Given the description of an element on the screen output the (x, y) to click on. 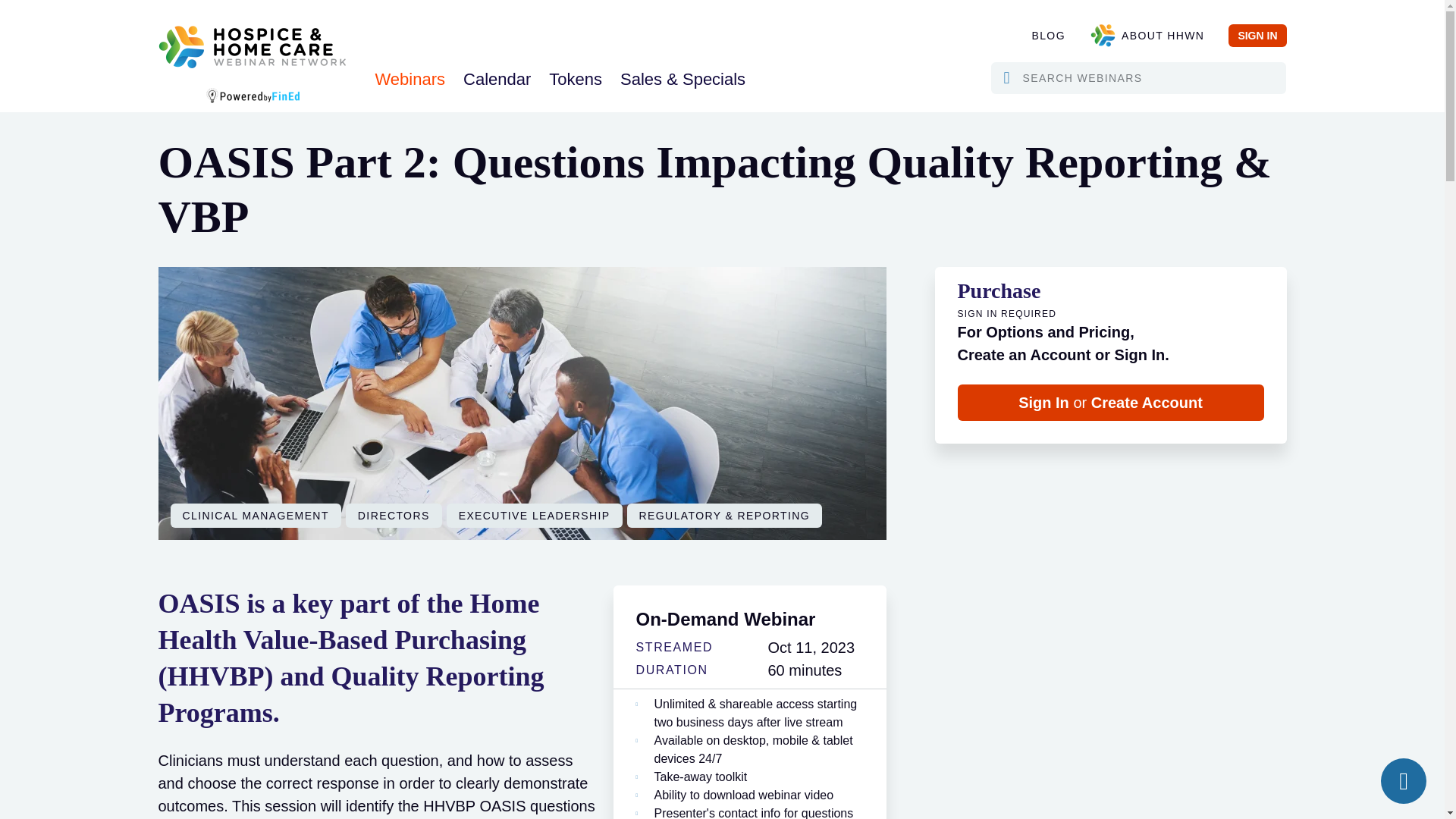
ABOUT HHWN (1146, 35)
Calendar (497, 78)
SIGN IN (1256, 35)
Sign In or Create Account (1109, 402)
Tokens (575, 78)
BLOG (1048, 35)
Submit Form (1024, 107)
Webinars (409, 78)
DIRECTORS (394, 515)
CLINICAL MANAGEMENT (255, 515)
